Given the description of an element on the screen output the (x, y) to click on. 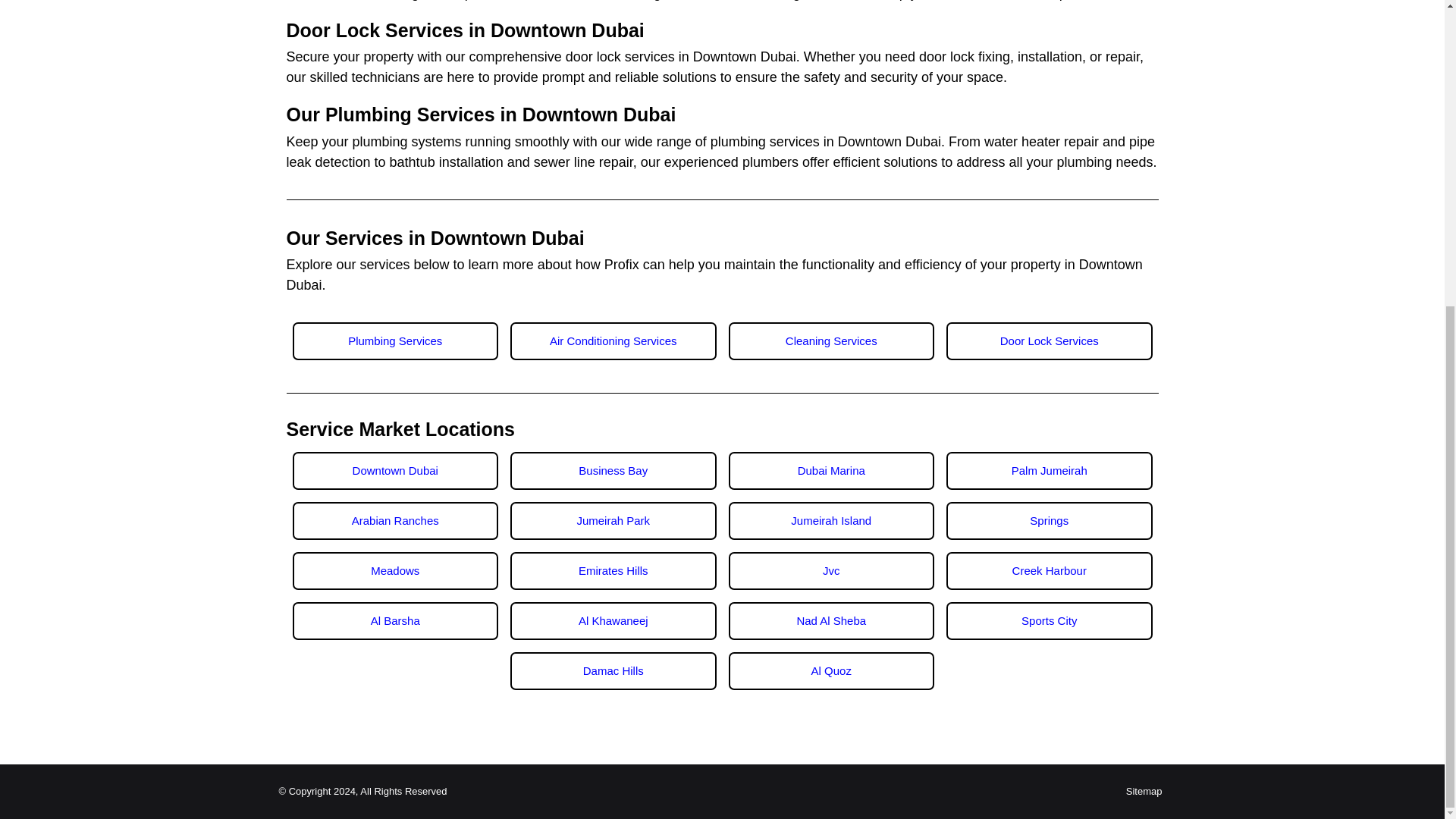
Jumeirah Island (831, 520)
Downtown Dubai (395, 470)
Jumeirah Park (613, 520)
Arabian Ranches (395, 520)
Palm Jumeirah (1049, 470)
Air Conditioning Services (613, 339)
Door Lock Services in Downtown Dubai (465, 29)
Cleaning Services (831, 339)
Plumbing Services (395, 339)
Our Plumbing Services in Downtown Dubai (481, 114)
Dubai Marina (831, 470)
Business Bay (613, 470)
Door Lock Services (1049, 339)
